Given the description of an element on the screen output the (x, y) to click on. 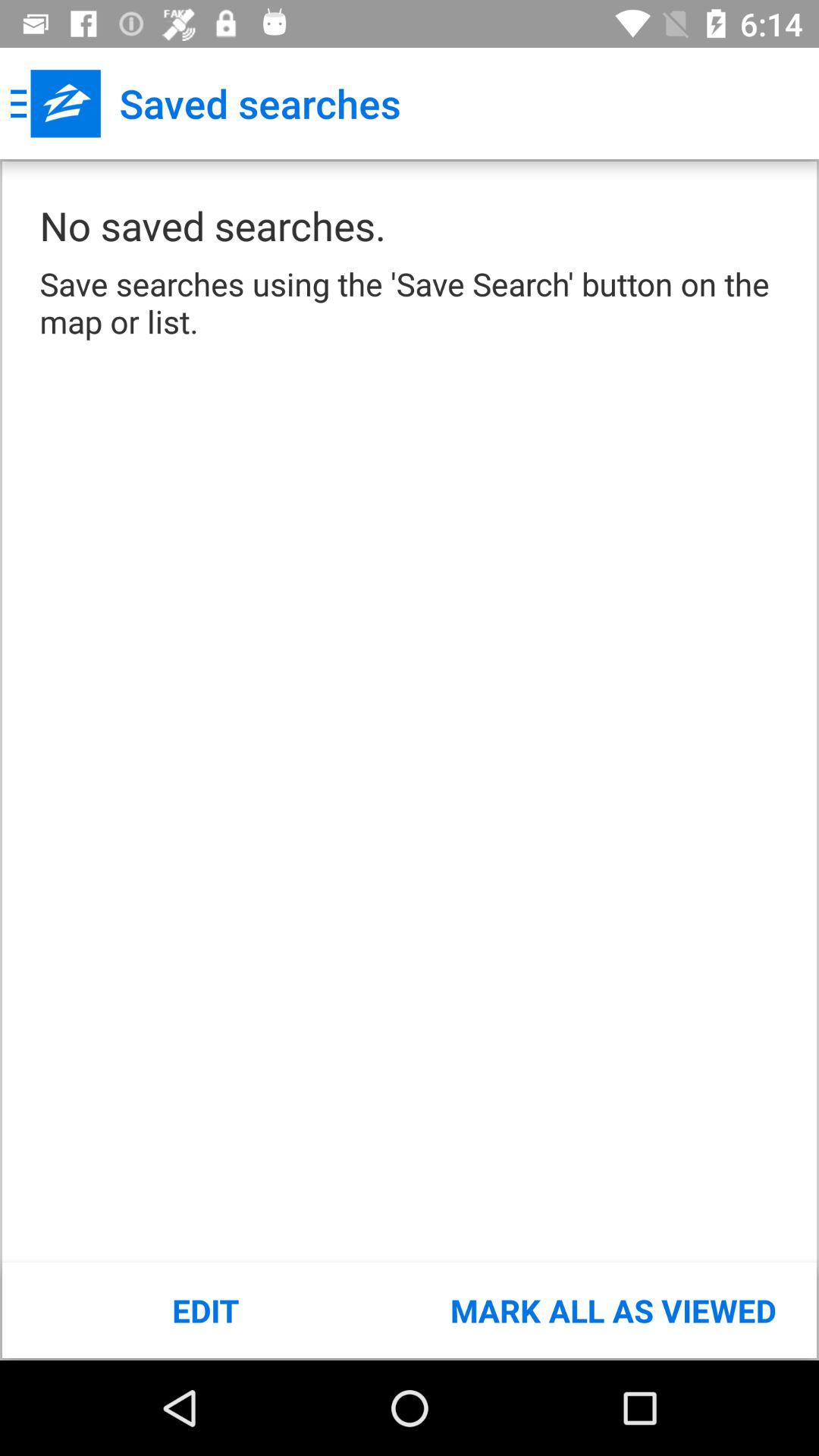
open the icon below save searches using icon (205, 1310)
